Given the description of an element on the screen output the (x, y) to click on. 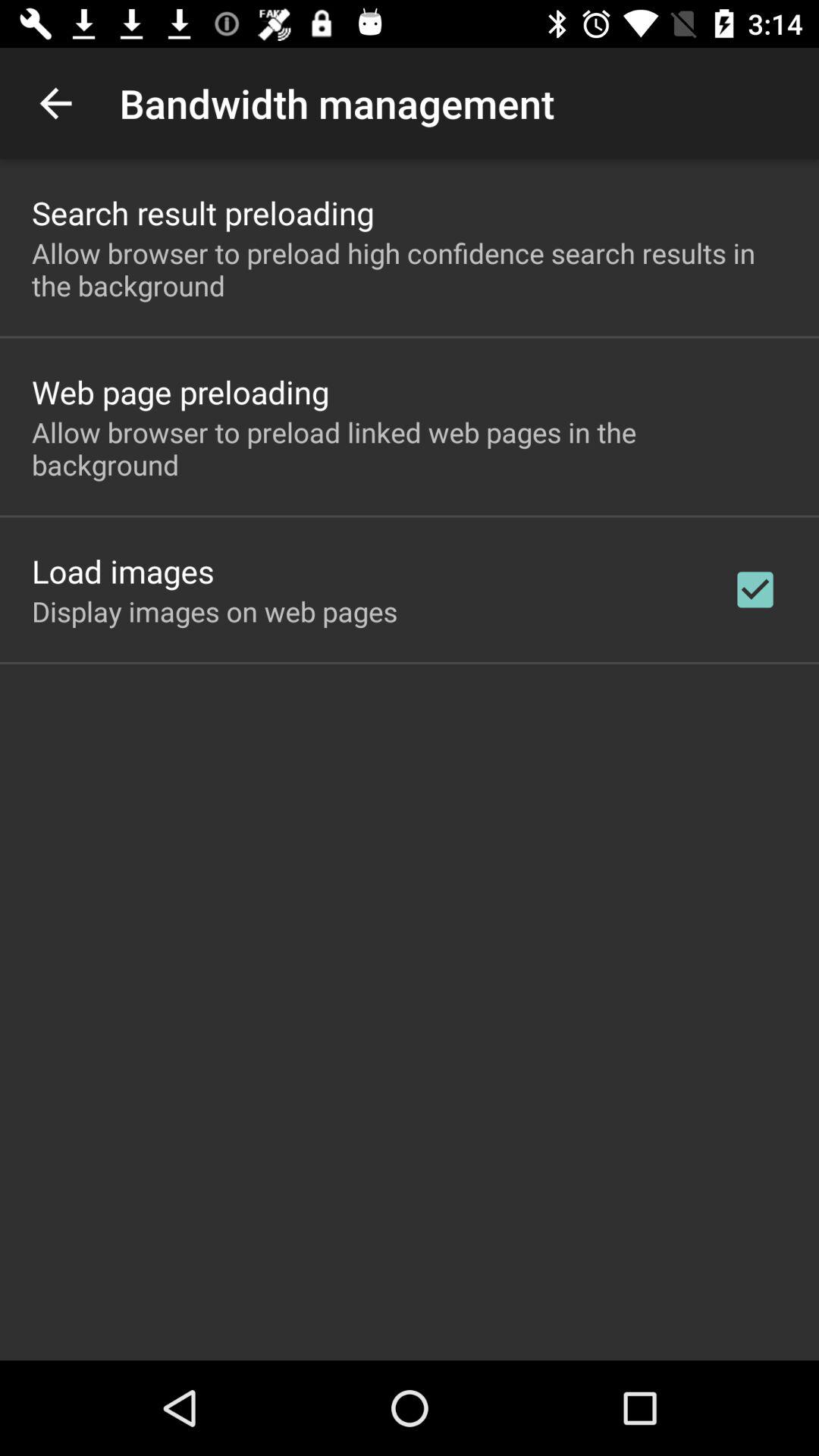
select the app to the left of bandwidth management (55, 103)
